Given the description of an element on the screen output the (x, y) to click on. 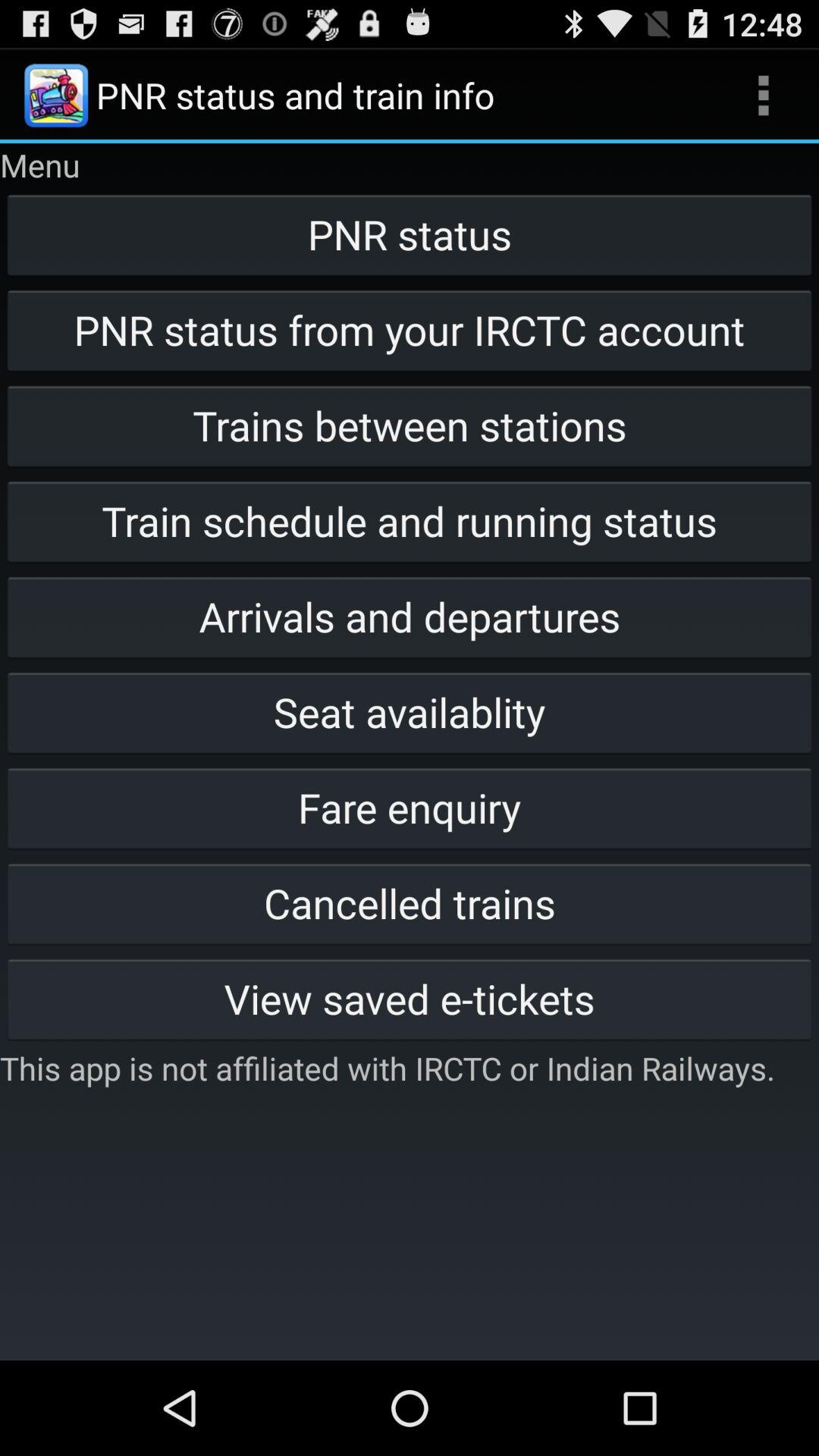
launch cancelled trains item (409, 902)
